Given the description of an element on the screen output the (x, y) to click on. 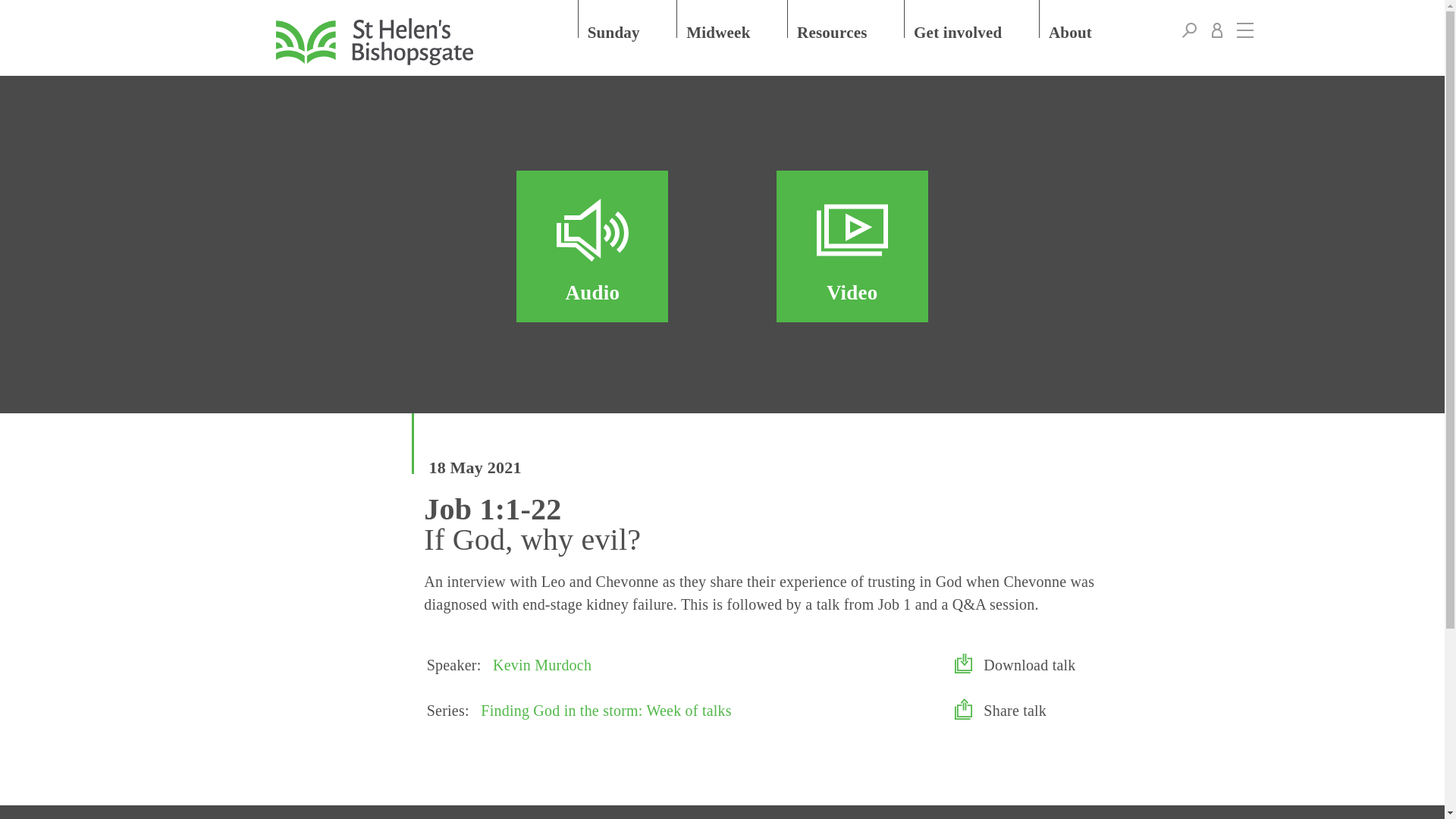
Midweek (732, 18)
Sunday (628, 18)
Get involved (972, 18)
Resources (846, 18)
About (1085, 18)
